Given the description of an element on the screen output the (x, y) to click on. 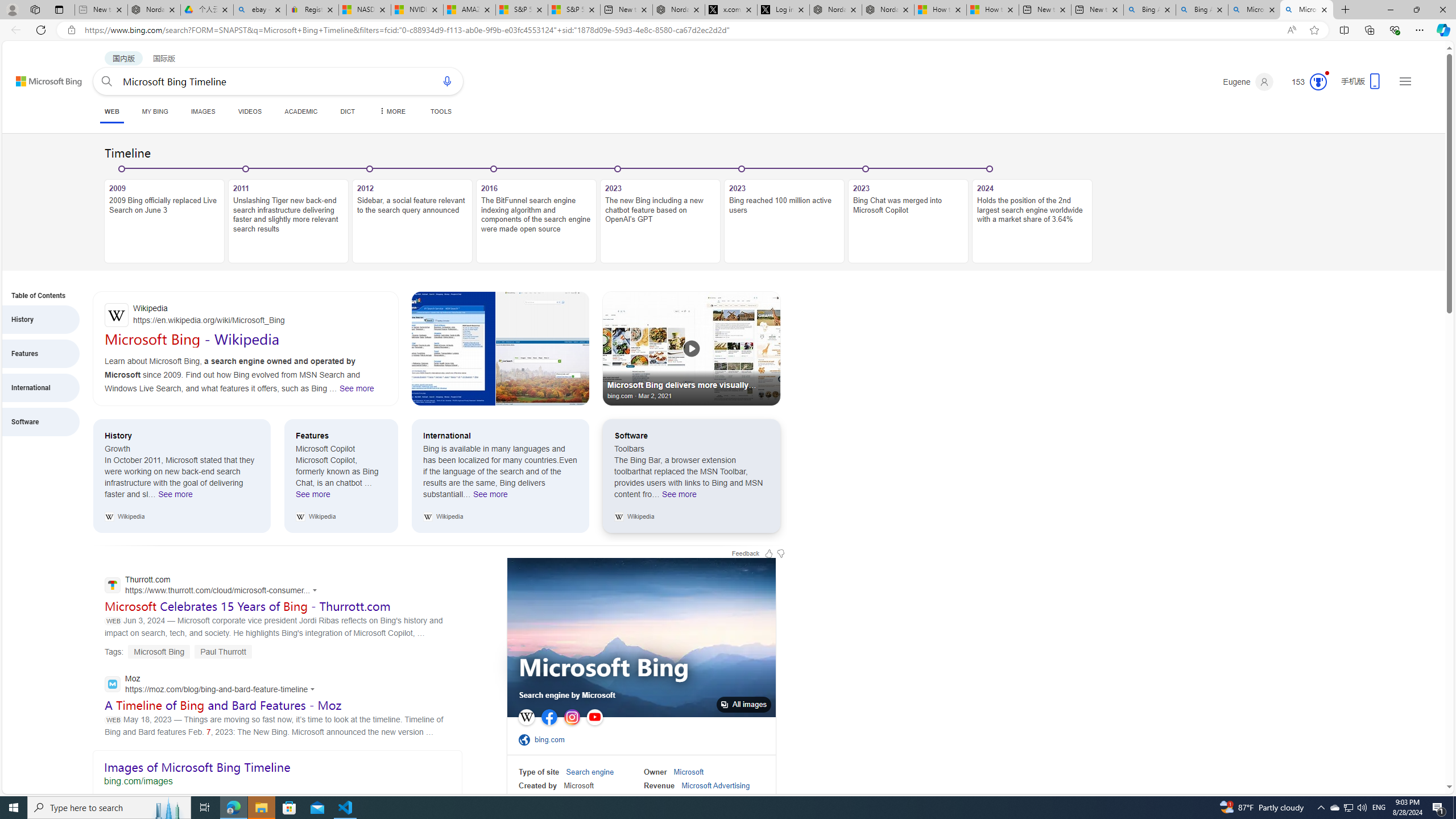
DICT (346, 111)
S&P 500, Nasdaq end lower, weighed by Nvidia dip | Watch (574, 9)
Search more (1423, 753)
Search using voice (446, 80)
20092009 Bing officially replaced Live Search on June 3 (164, 214)
Back to Bing search (41, 78)
ACADEMIC (300, 111)
Microsoft Bing - Wikipedia (191, 339)
x.com/NordaceOfficial (730, 9)
